Given the description of an element on the screen output the (x, y) to click on. 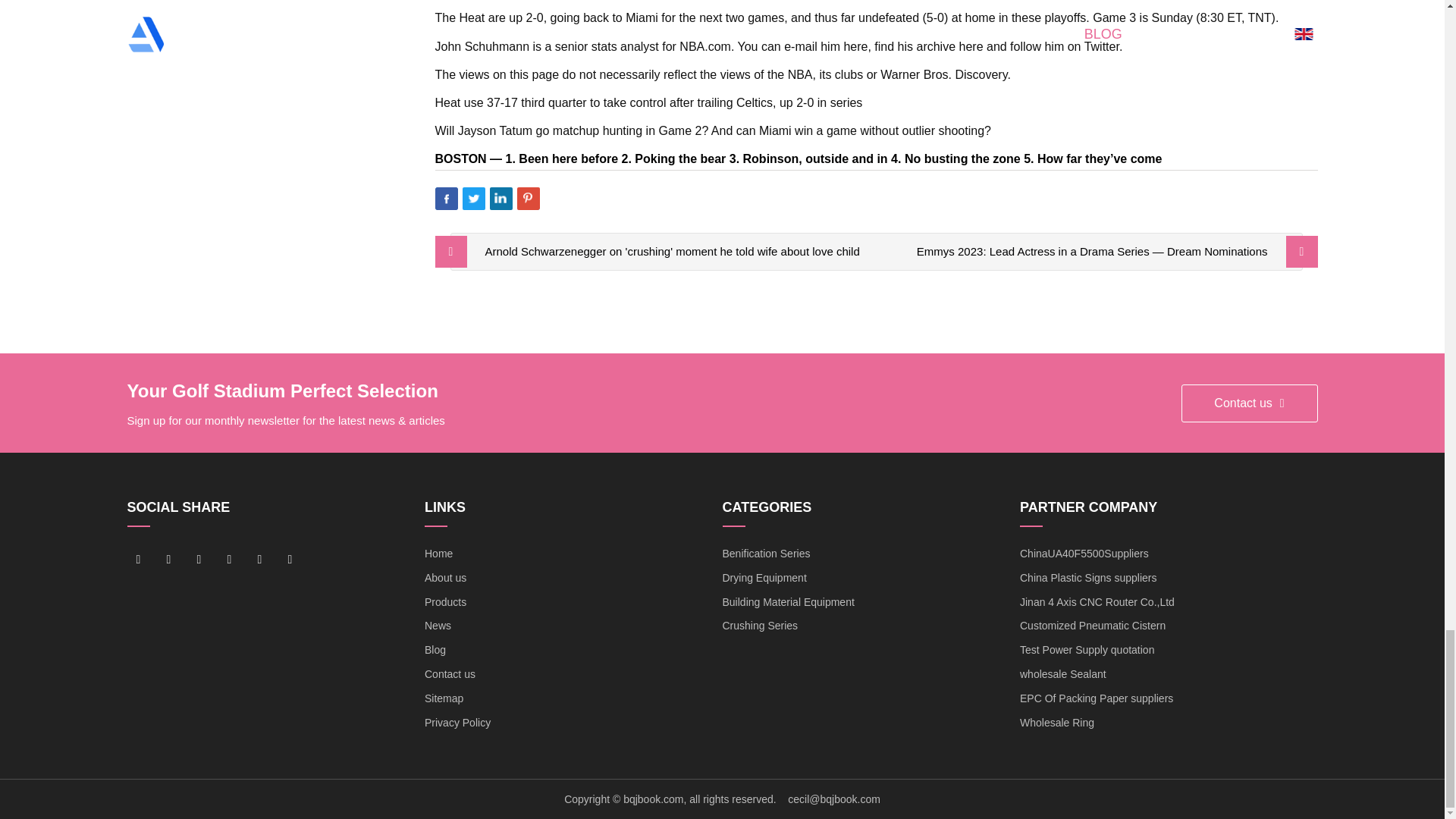
facebook (138, 558)
Contact us (1248, 403)
About us (445, 578)
Twitter (473, 198)
Print (555, 198)
linkedin (168, 558)
Facebook (446, 198)
twitter (199, 558)
youtube (229, 558)
Linkedin (500, 198)
Home (438, 554)
Pinterest (528, 198)
